Given the description of an element on the screen output the (x, y) to click on. 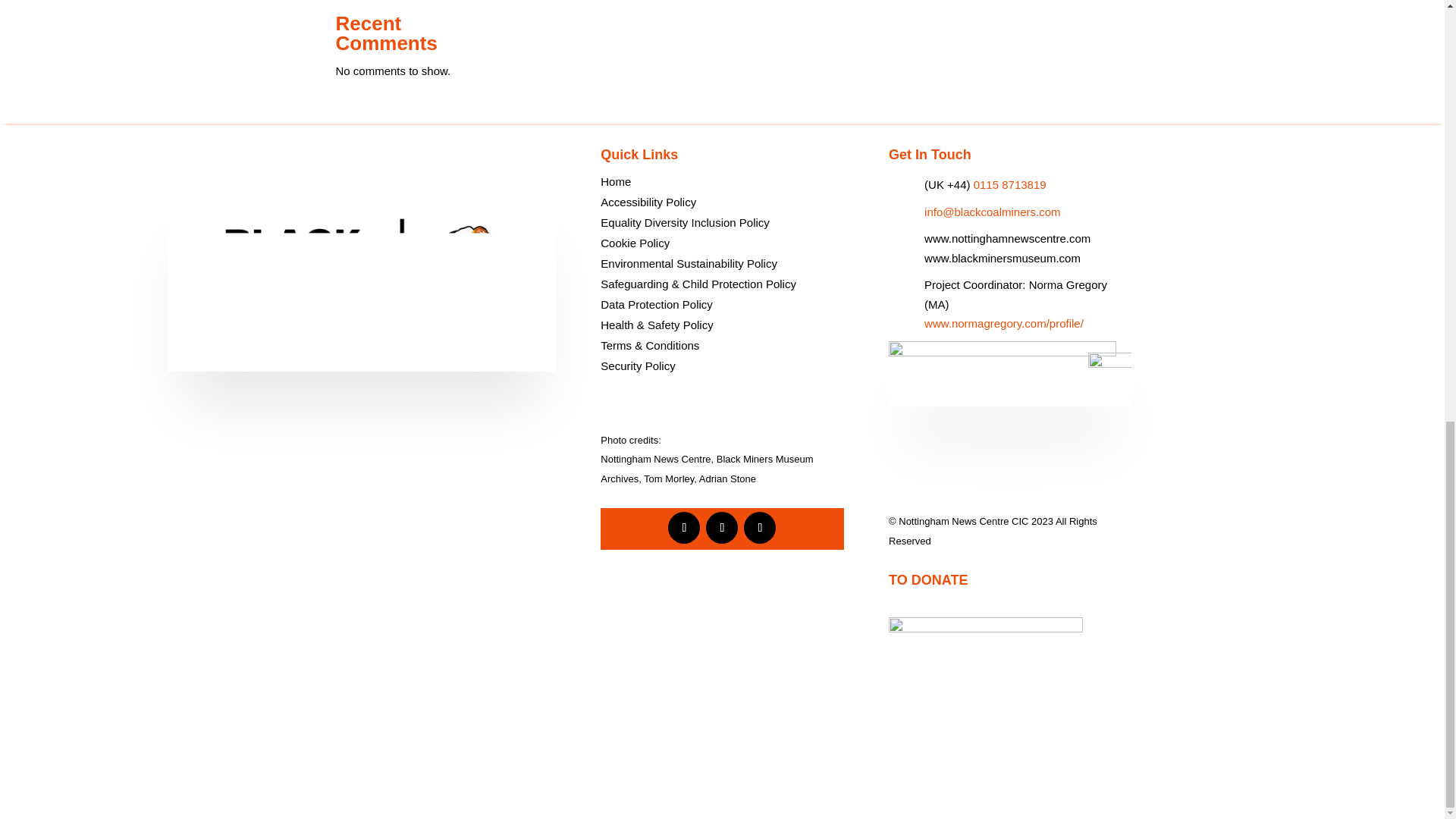
Accessibility Policy (647, 201)
LogoDesigns-03 4 (360, 278)
Home (614, 181)
Follow on Facebook (684, 527)
Follow on Youtube (760, 527)
Follow on X (722, 527)
